Given the description of an element on the screen output the (x, y) to click on. 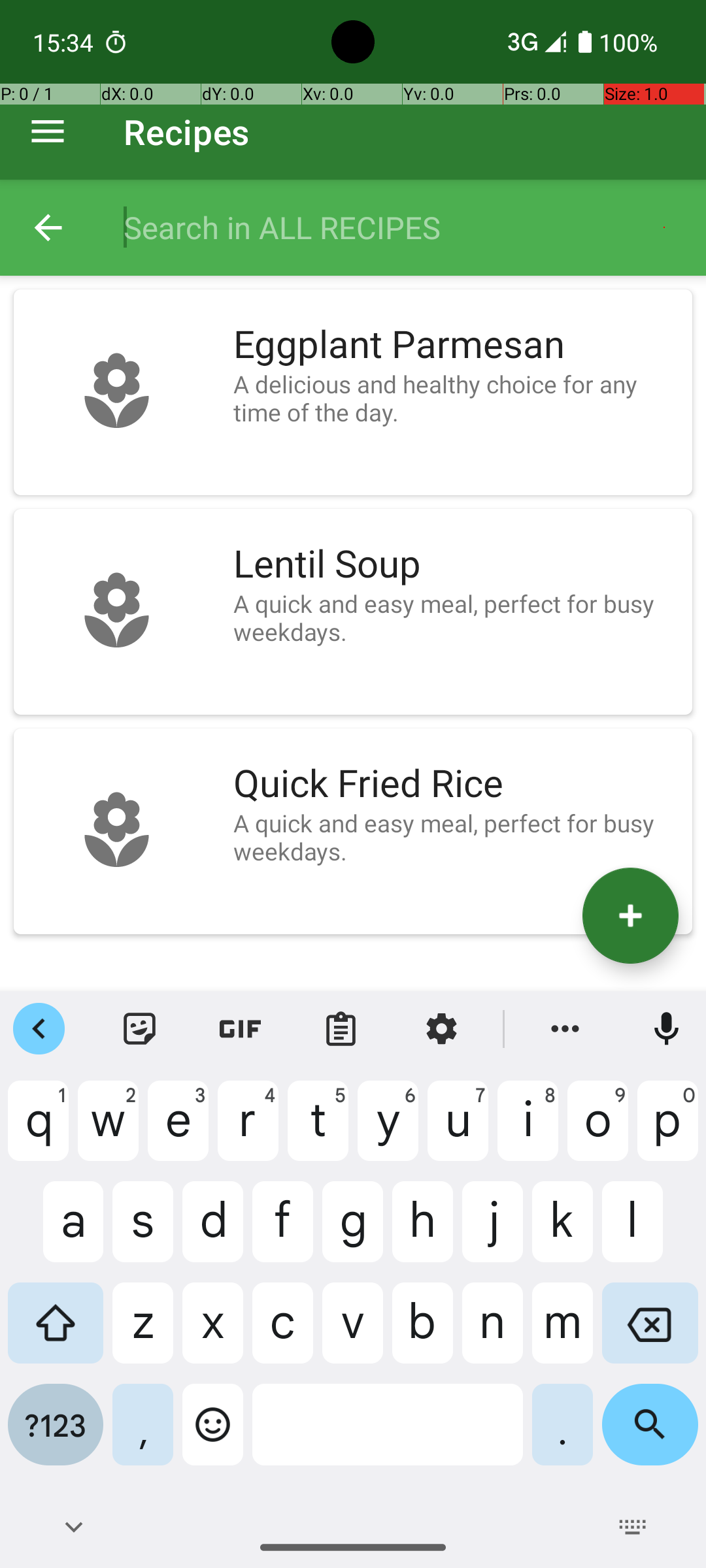
Collapse Element type: android.widget.ImageButton (48, 227)
Search in ALL RECIPES Element type: android.widget.AutoCompleteTextView (400, 227)
